Given the description of an element on the screen output the (x, y) to click on. 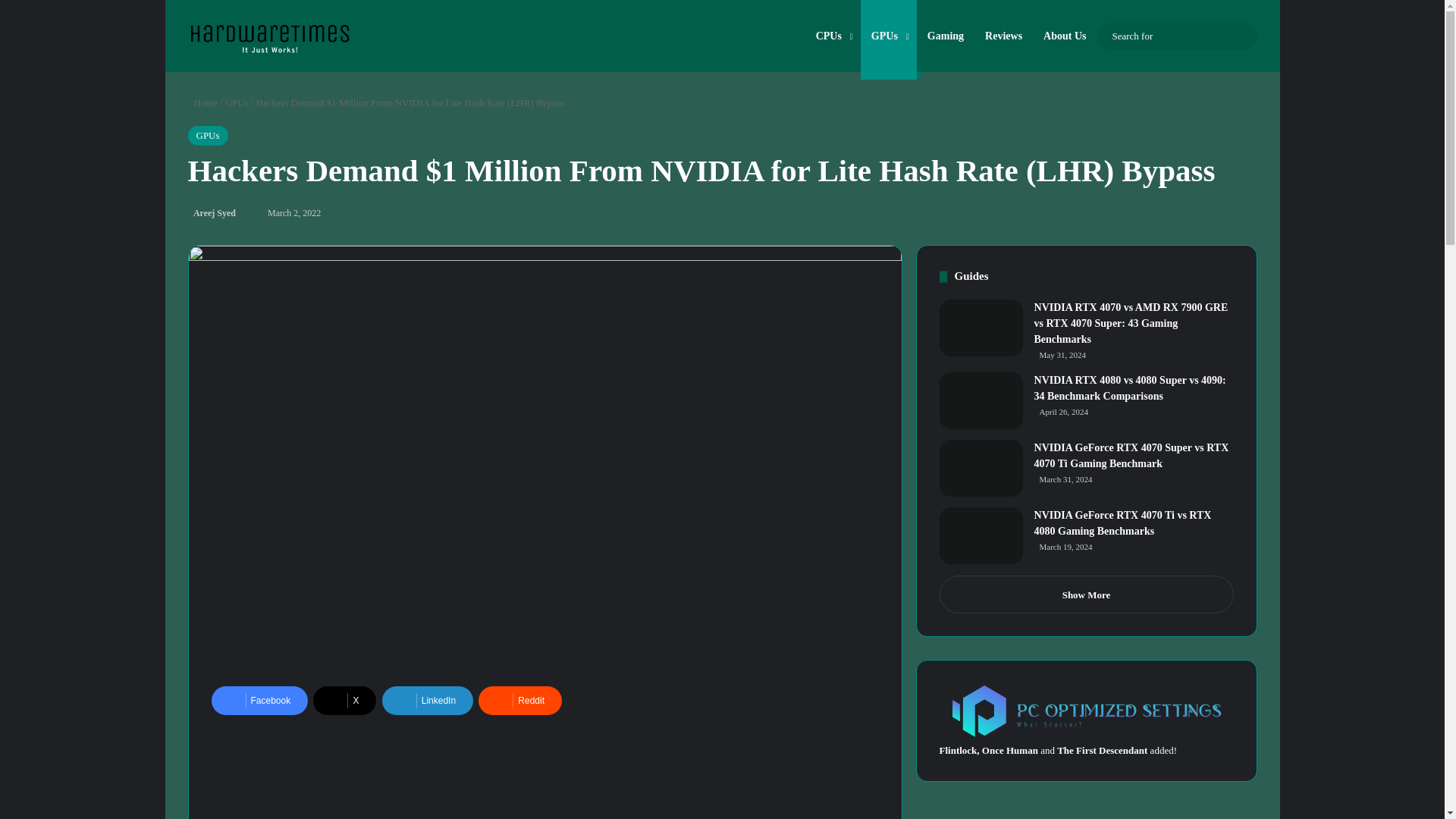
Hardware Times (268, 34)
Search for (1242, 35)
GPUs (207, 135)
GPUs (236, 102)
Reddit (520, 700)
Areej Syed (211, 213)
LinkedIn (427, 700)
X (344, 700)
Facebook (259, 700)
Areej Syed (211, 213)
Search for (1176, 36)
Reddit (520, 700)
Facebook (259, 700)
LinkedIn (427, 700)
Home (202, 102)
